Given the description of an element on the screen output the (x, y) to click on. 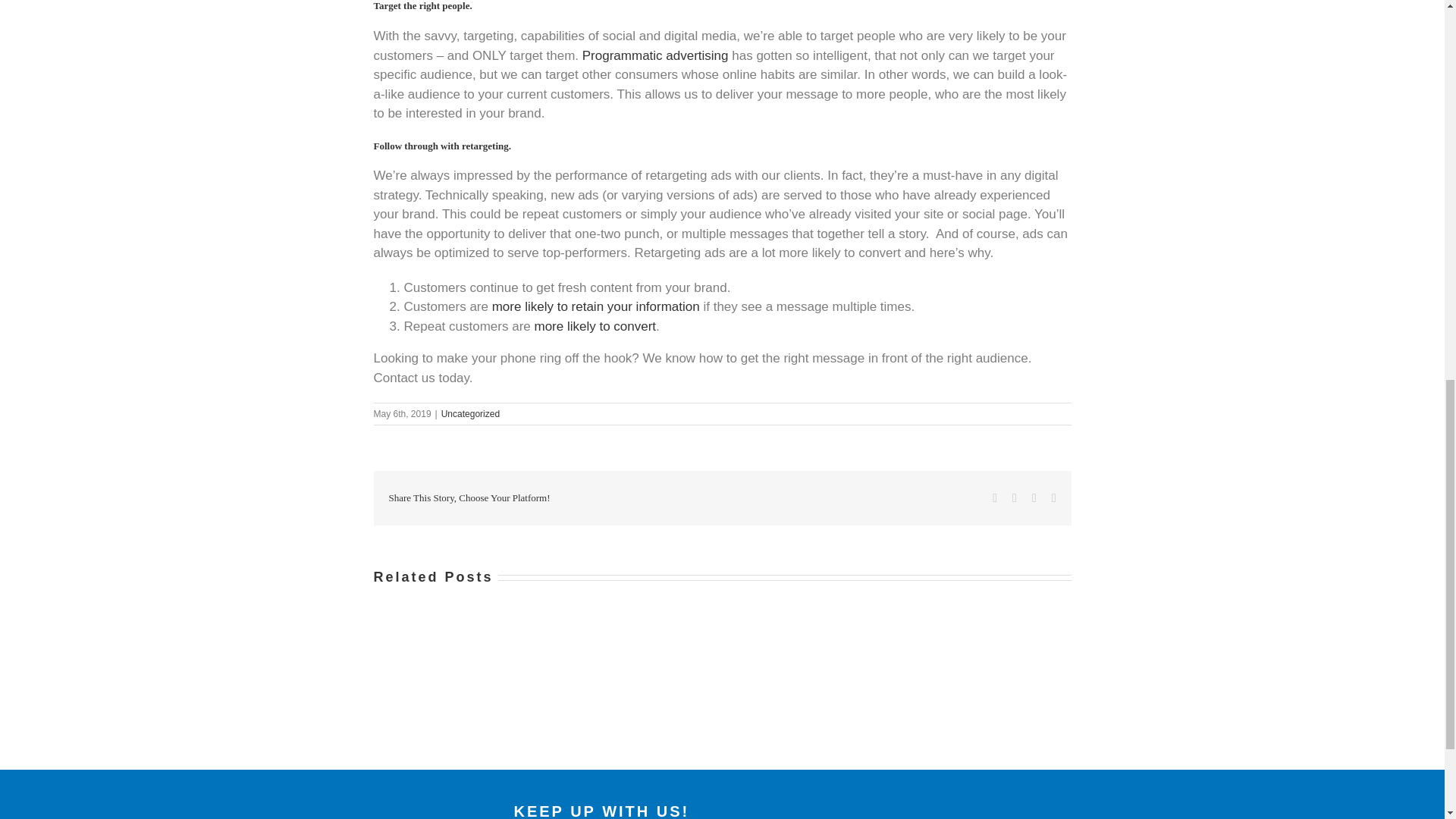
Uncategorized (470, 413)
more likely to retain your information (596, 306)
Programmatic advertising (655, 55)
more likely to convert (595, 326)
